Given the description of an element on the screen output the (x, y) to click on. 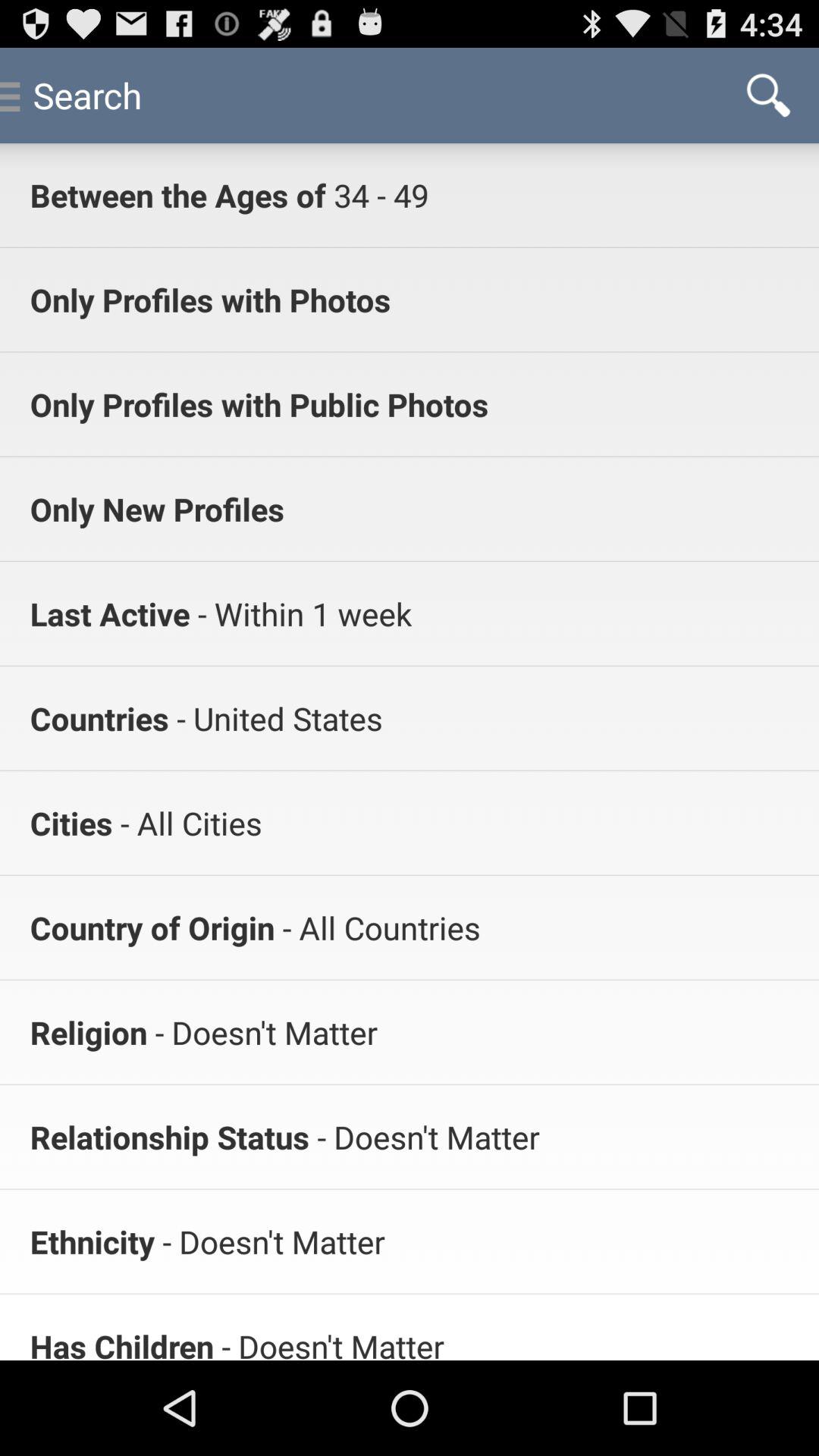
turn on app above the  - all cities item (275, 717)
